Given the description of an element on the screen output the (x, y) to click on. 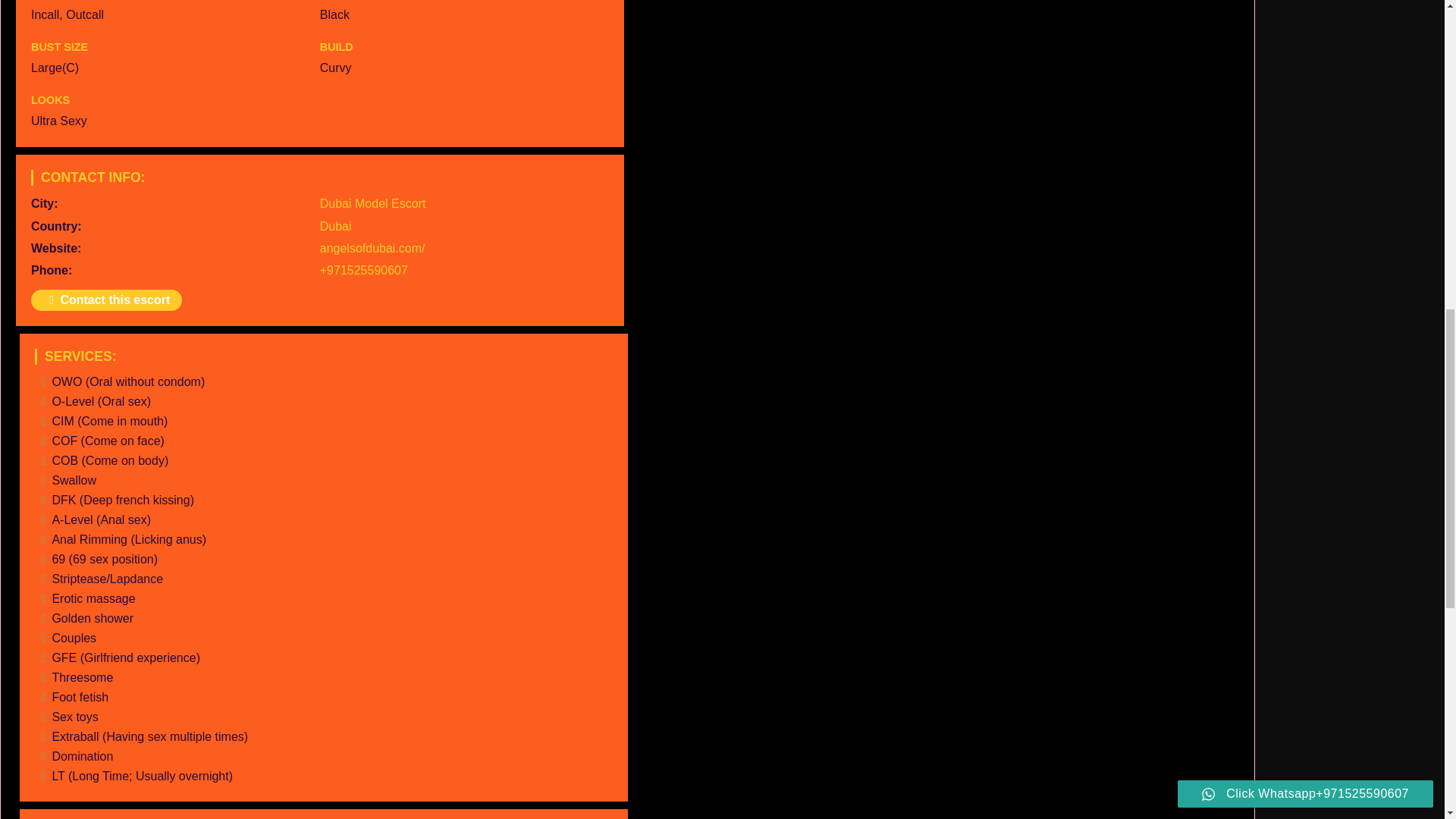
Dubai (336, 226)
Dubai (336, 226)
Dubai Model Escort (373, 203)
Dubai Model Escort (373, 203)
